Given the description of an element on the screen output the (x, y) to click on. 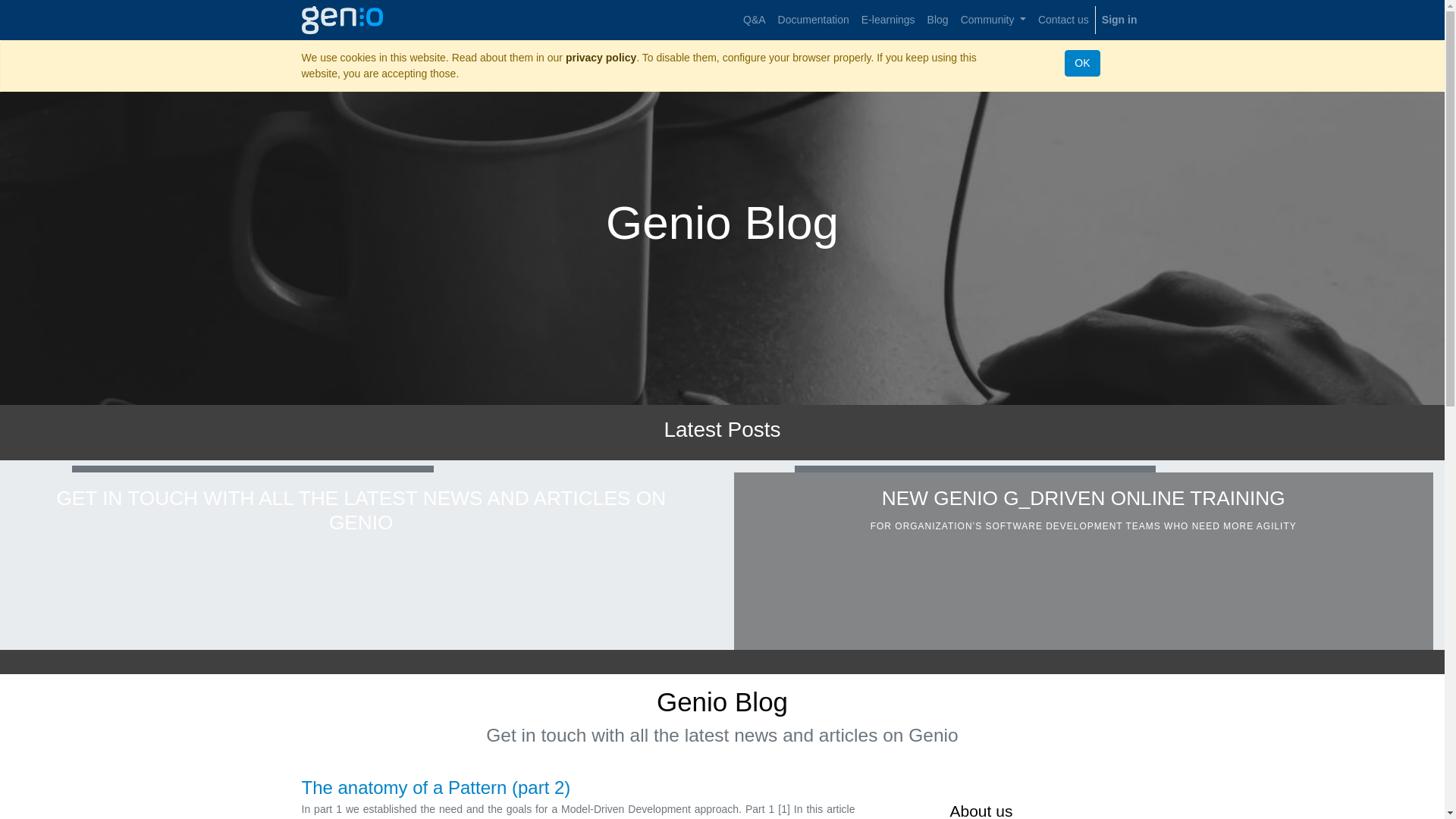
OK (1081, 62)
E-learnings (888, 19)
Blog (938, 19)
Documentation (813, 19)
Community (993, 19)
privacy policy (601, 57)
Contact us (1063, 19)
Sign in (1119, 19)
Quidgest (342, 18)
